Given the description of an element on the screen output the (x, y) to click on. 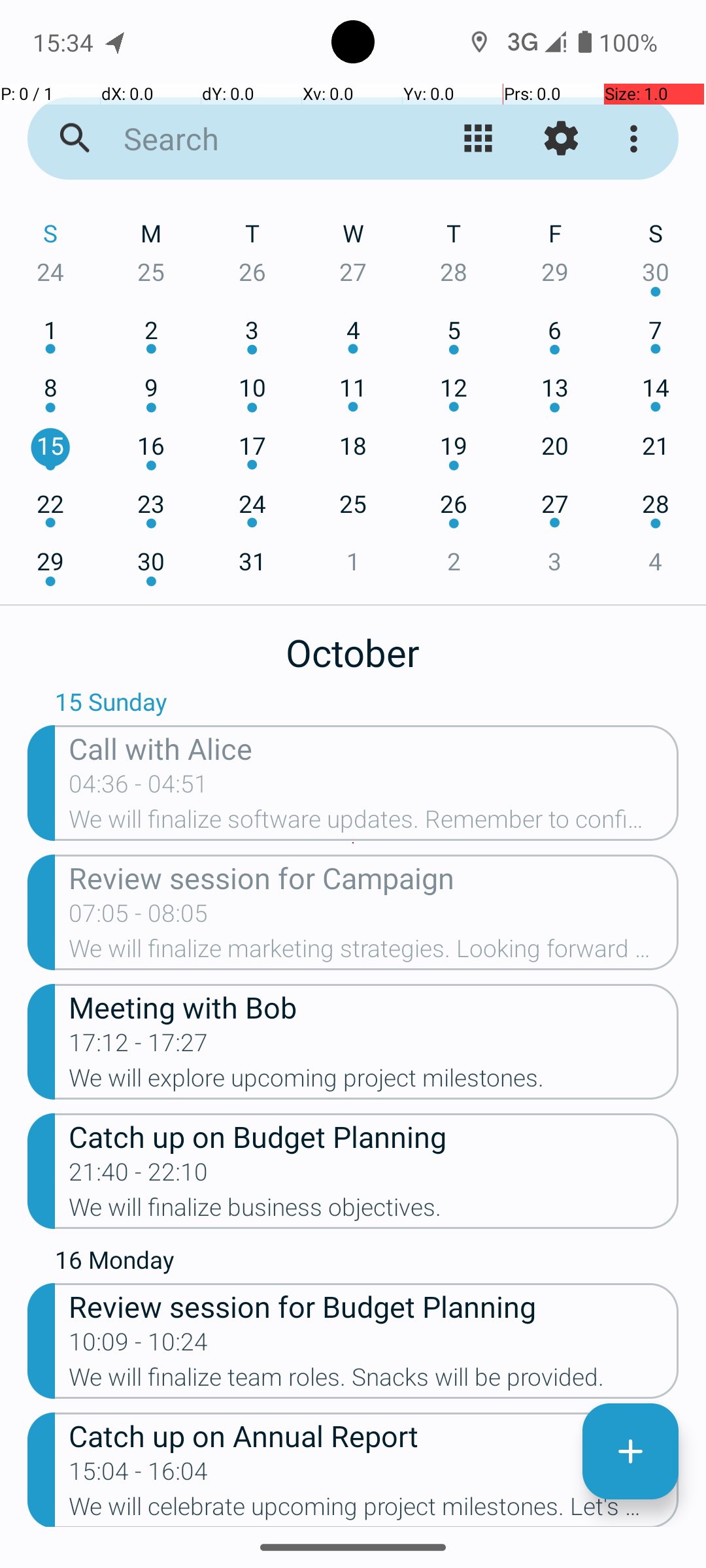
15 Sunday Element type: android.widget.TextView (366, 704)
16 Monday Element type: android.widget.TextView (366, 1262)
Call with Alice Element type: android.widget.TextView (373, 747)
04:36 - 04:51 Element type: android.widget.TextView (137, 787)
We will finalize software updates. Remember to confirm attendance. Element type: android.widget.TextView (373, 822)
Review session for Campaign Element type: android.widget.TextView (373, 876)
07:05 - 08:05 Element type: android.widget.TextView (137, 916)
We will finalize marketing strategies. Looking forward to productive discussions. Element type: android.widget.TextView (373, 952)
Meeting with Bob Element type: android.widget.TextView (373, 1006)
17:12 - 17:27 Element type: android.widget.TextView (137, 1046)
We will explore upcoming project milestones. Element type: android.widget.TextView (373, 1081)
Catch up on Budget Planning Element type: android.widget.TextView (373, 1135)
21:40 - 22:10 Element type: android.widget.TextView (137, 1175)
We will finalize business objectives. Element type: android.widget.TextView (373, 1210)
Review session for Budget Planning Element type: android.widget.TextView (373, 1305)
10:09 - 10:24 Element type: android.widget.TextView (137, 1345)
We will finalize team roles. Snacks will be provided. Element type: android.widget.TextView (373, 1380)
15:04 - 16:04 Element type: android.widget.TextView (137, 1474)
We will celebrate upcoming project milestones. Let's be punctual. Element type: android.widget.TextView (373, 1509)
